Given the description of an element on the screen output the (x, y) to click on. 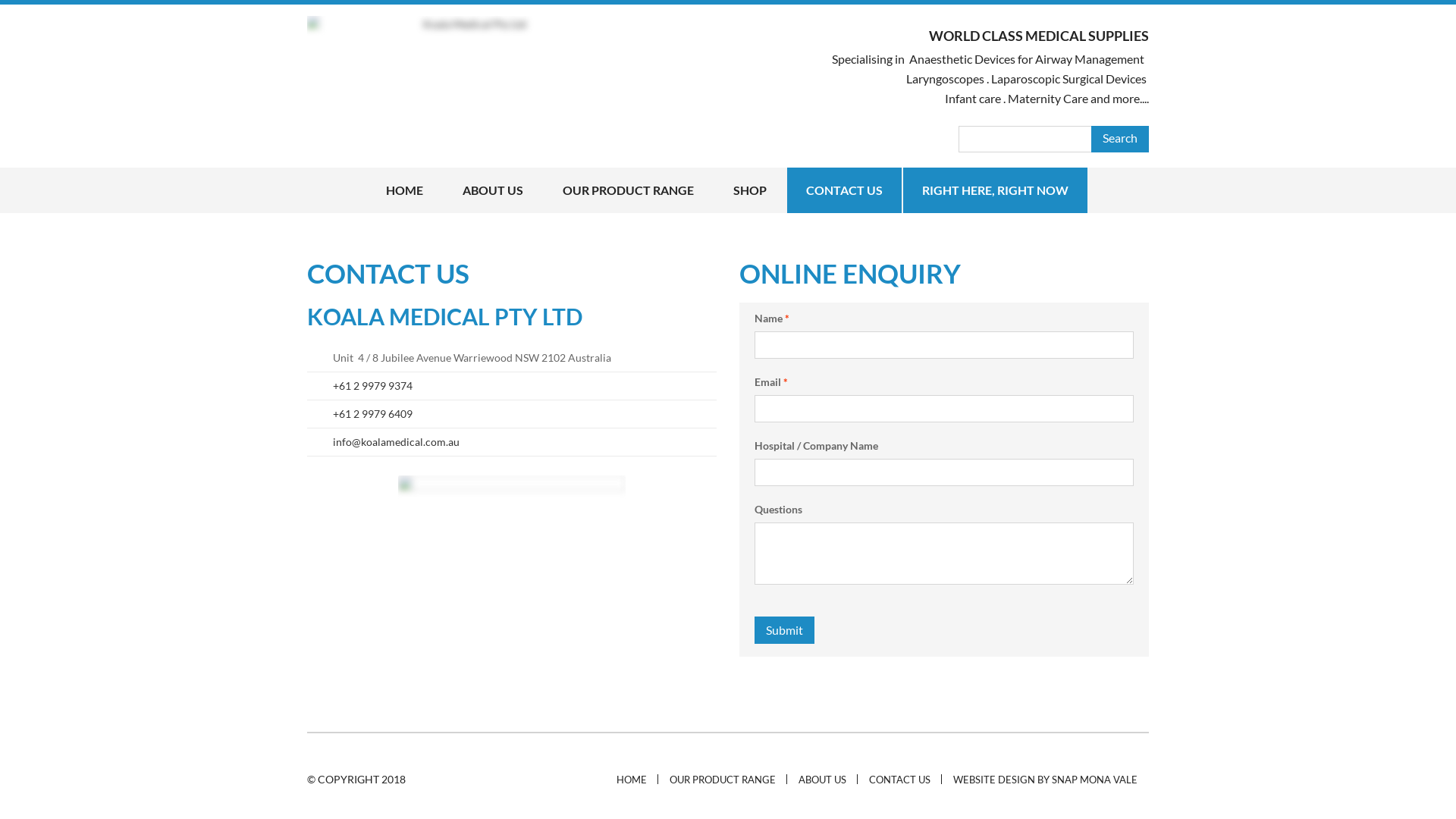
ABOUT US Element type: text (822, 779)
info@koalamedical.com.au Element type: text (395, 441)
CONTACT US Element type: text (899, 779)
WEBSITE DESIGN BY SNAP MONA VALE Element type: text (1044, 779)
OUR PRODUCT RANGE Element type: text (627, 190)
HOME Element type: text (631, 779)
Submit Element type: text (784, 629)
HOME Element type: text (404, 190)
CONTACT US Element type: text (844, 190)
SHOP Element type: text (749, 190)
Search Element type: text (1119, 138)
OUR PRODUCT RANGE Element type: text (722, 779)
+61 2 9979 6409 Element type: text (372, 413)
+61 2 9979 9374 Element type: text (372, 385)
RIGHT HERE, RIGHT NOW Element type: text (995, 190)
ABOUT US Element type: text (492, 190)
